Given the description of an element on the screen output the (x, y) to click on. 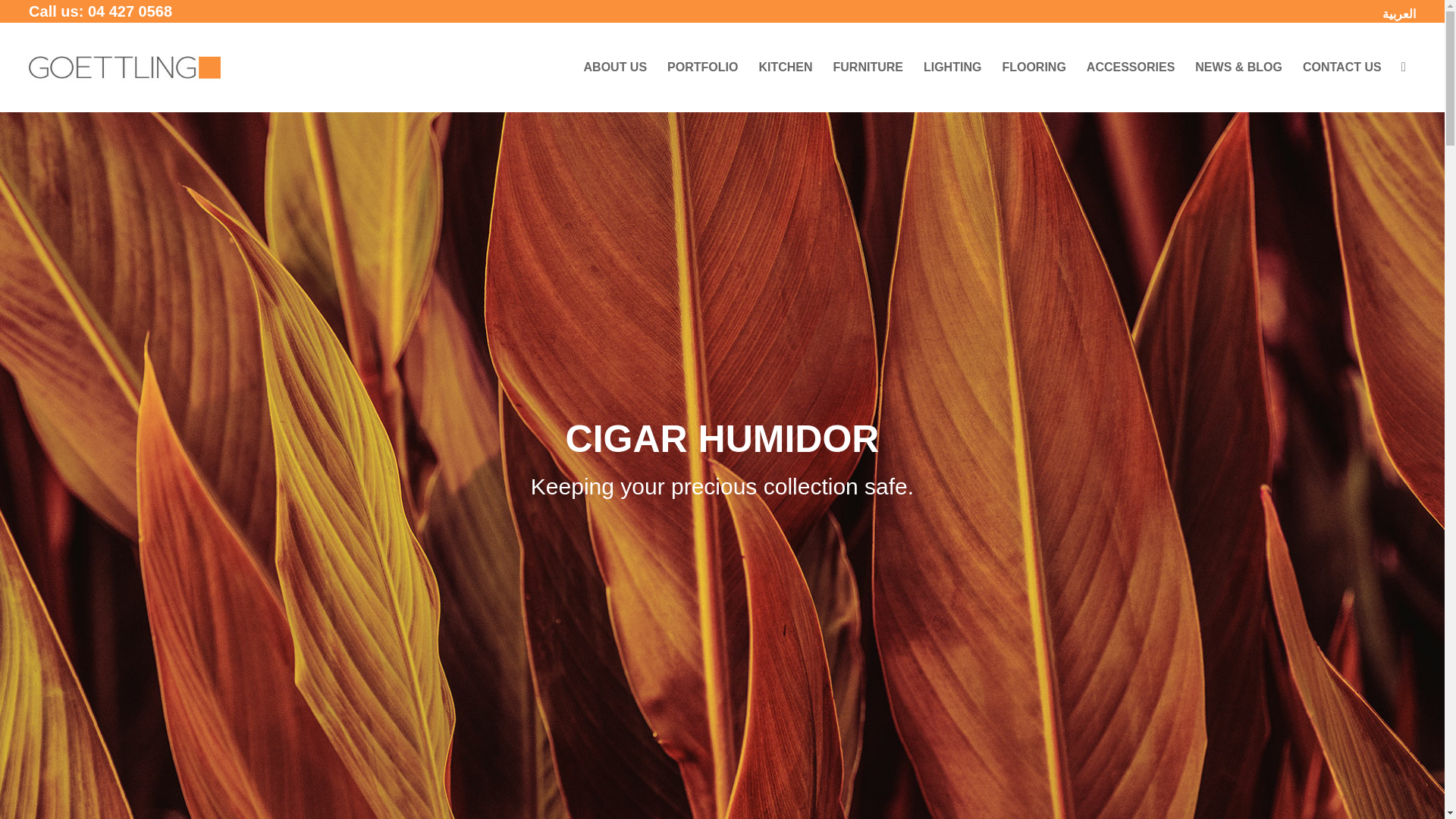
ACCESSORIES (1130, 67)
04 427 0568 (129, 11)
PORTFOLIO (702, 67)
ABOUT US (615, 67)
FLOORING (1033, 67)
FURNITURE (867, 67)
CONTACT US (1341, 67)
